Given the description of an element on the screen output the (x, y) to click on. 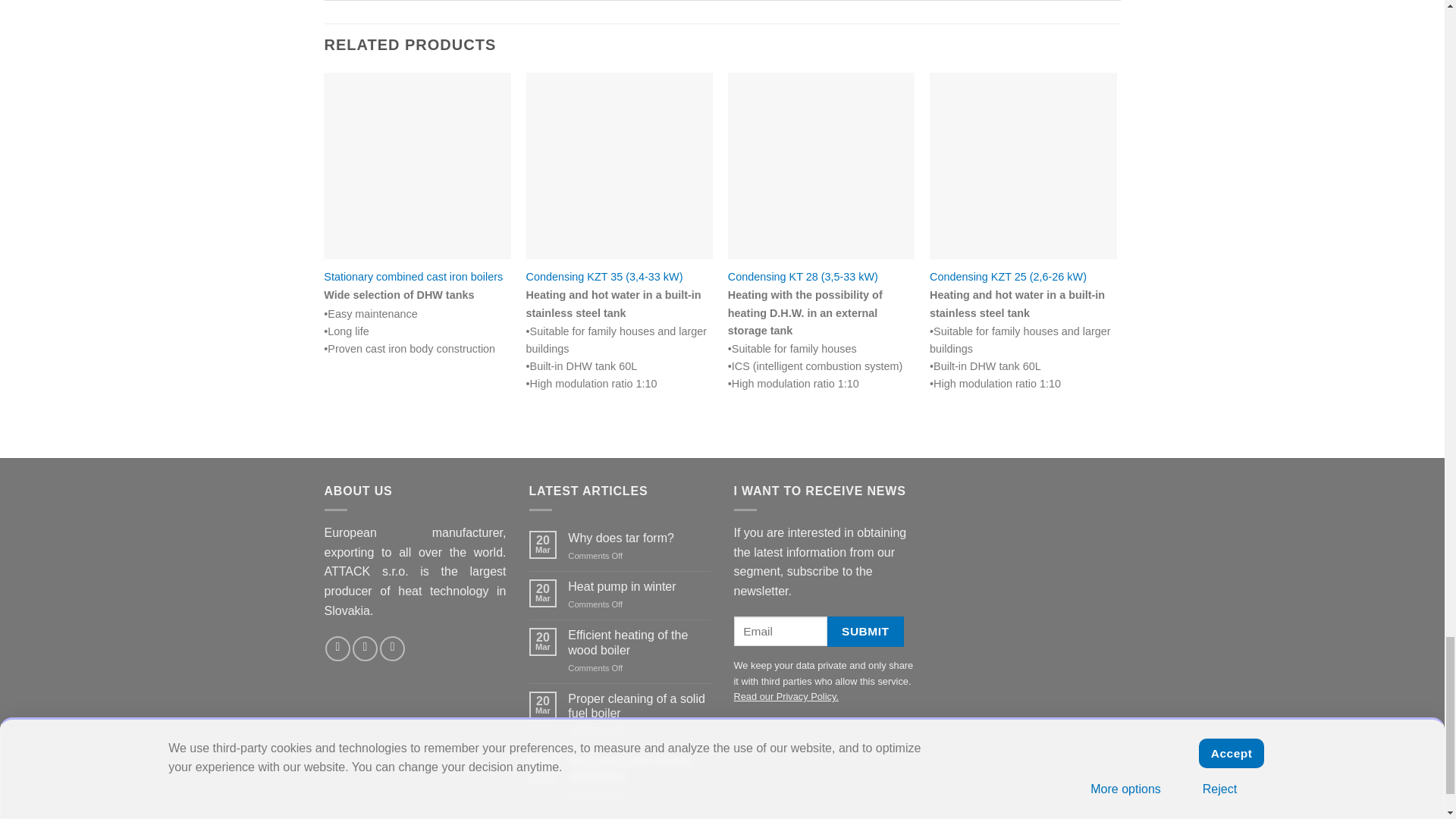
Follow on Facebook (337, 648)
Follow on YouTube (392, 648)
Proper cleaning of a solid fuel boiler (638, 705)
Heat pump in winter (638, 586)
Submit (864, 631)
Why does tar form? (638, 537)
Efficient heating of the wood boiler (638, 642)
Heat pump with mobile application (638, 768)
Follow on Instagram (364, 648)
